Given the description of an element on the screen output the (x, y) to click on. 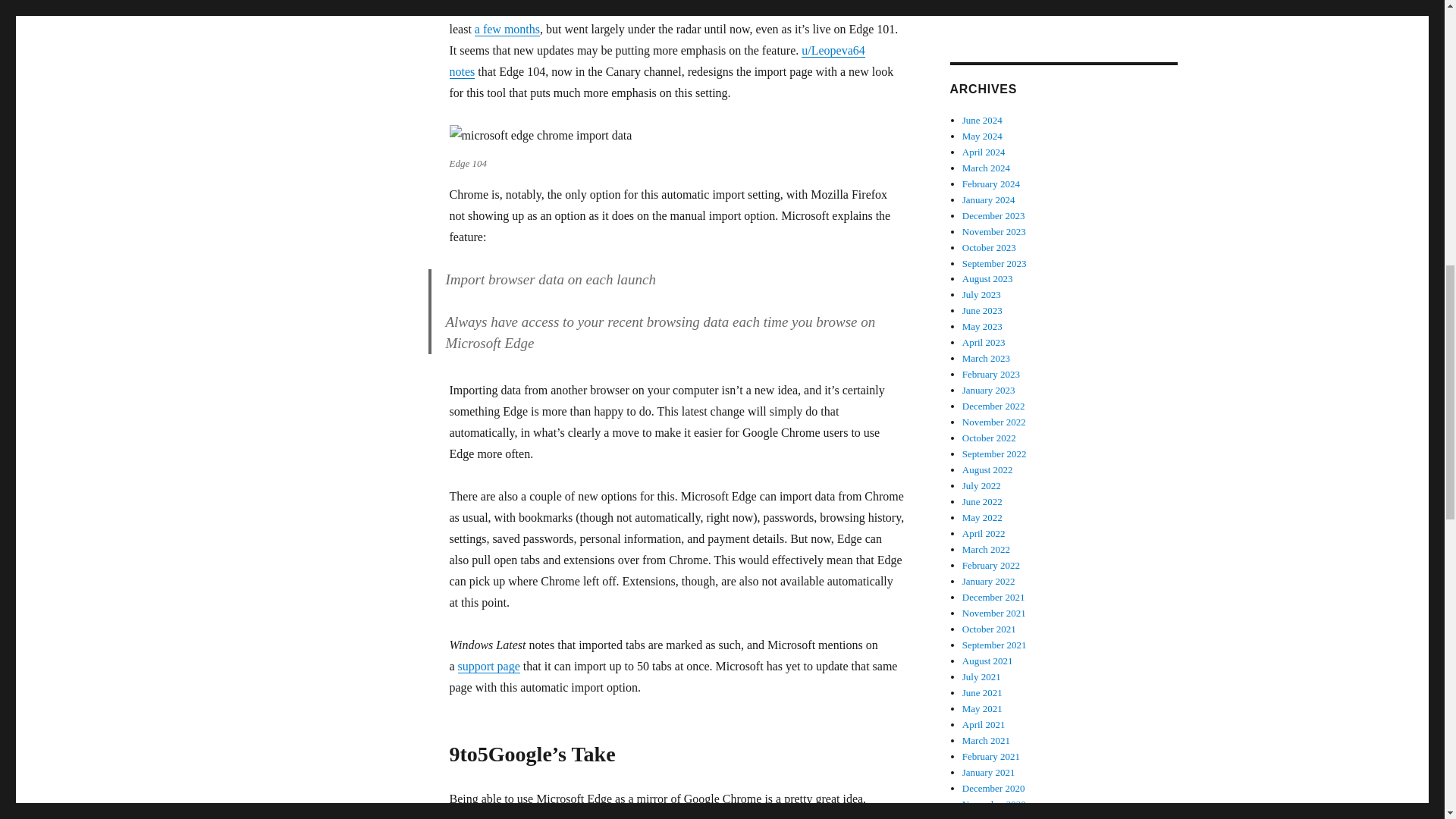
a few months (507, 29)
support page (488, 666)
